Given the description of an element on the screen output the (x, y) to click on. 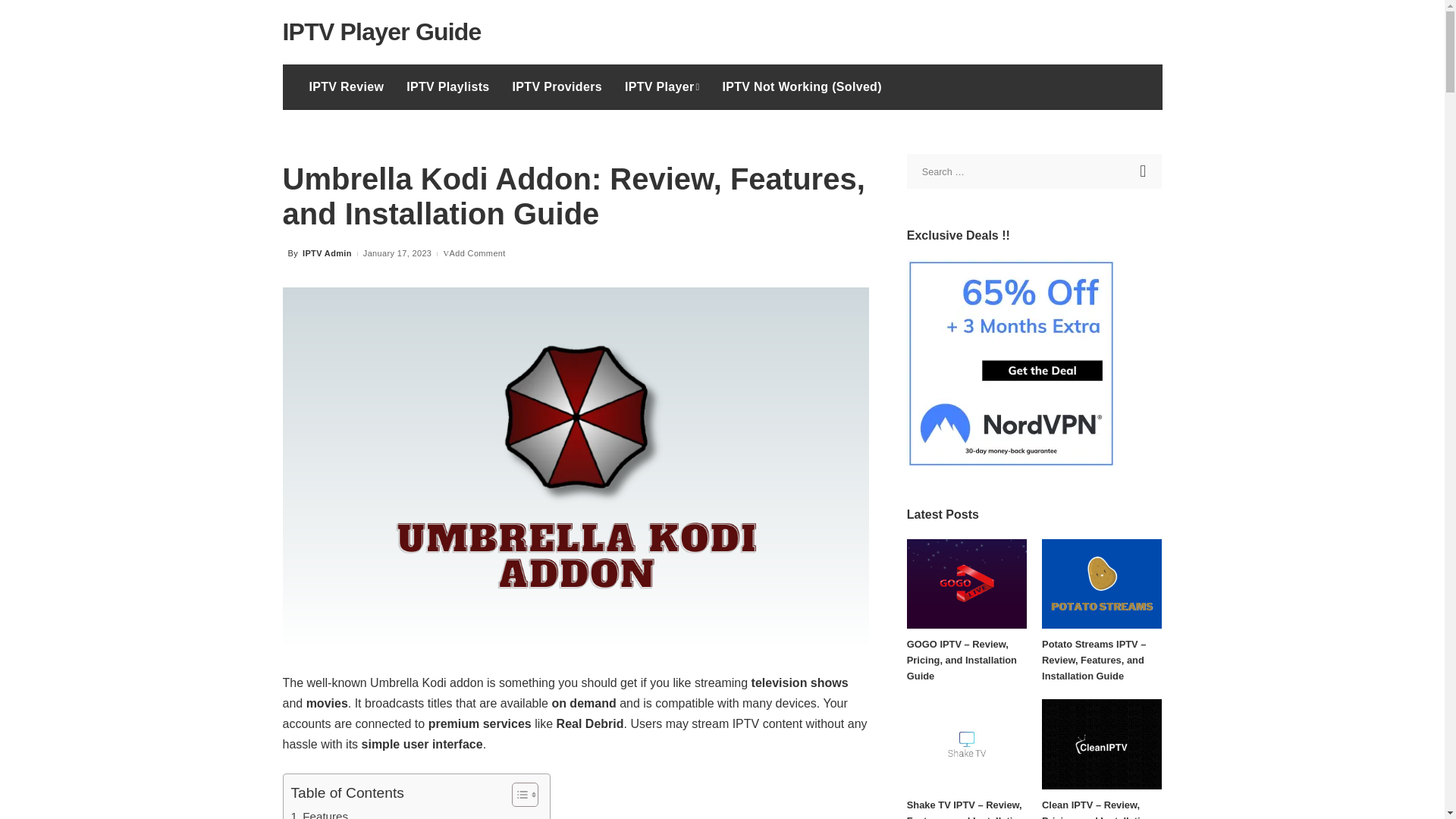
Features (320, 813)
IPTV Review (345, 86)
IPTV Player Guide (381, 31)
IPTV Player (661, 86)
IPTV Providers (556, 86)
Search (1143, 171)
IPTV Playlists (447, 86)
IPTV Player Guide (381, 31)
Search (1143, 171)
